Given the description of an element on the screen output the (x, y) to click on. 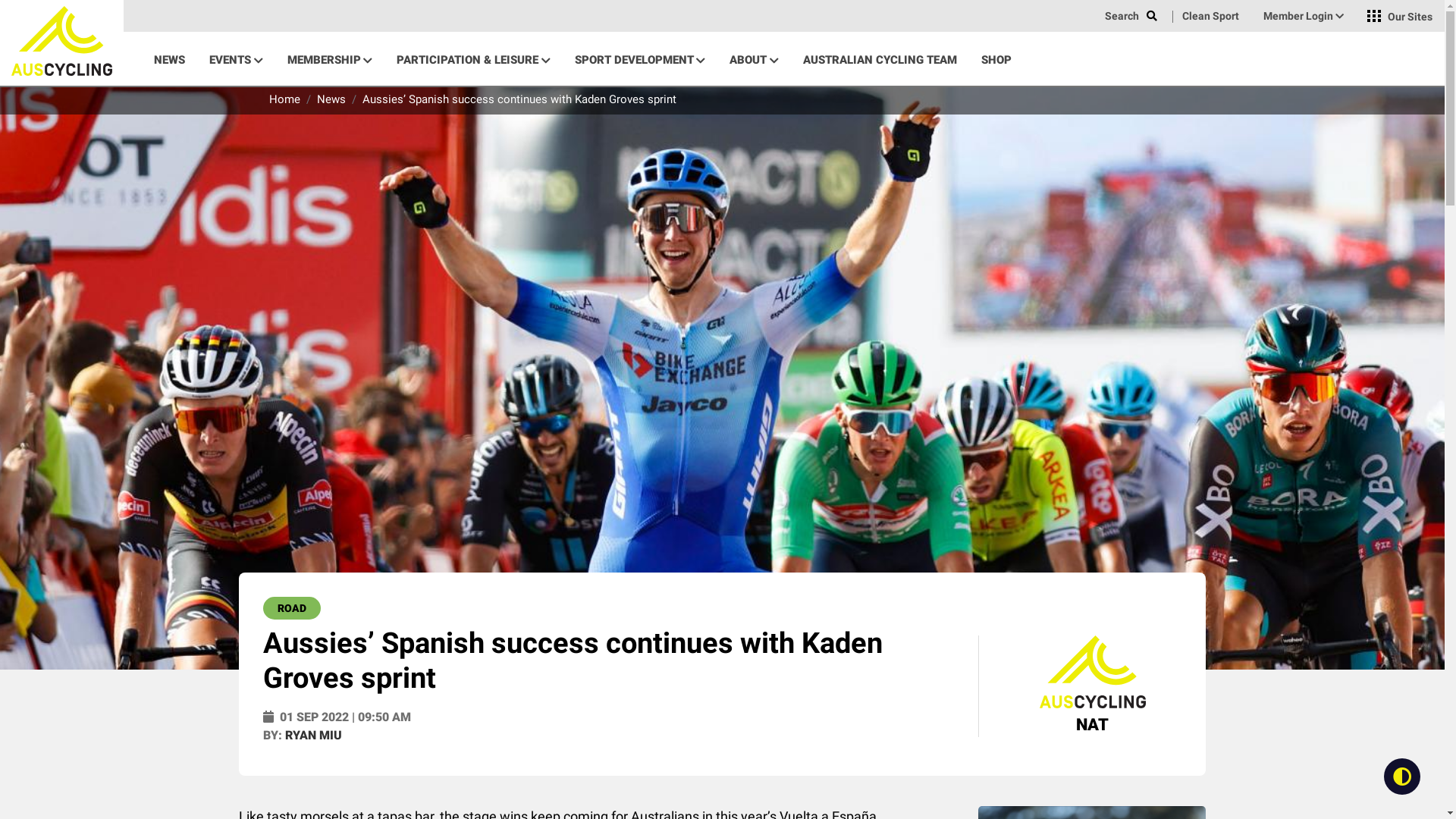
Home Element type: text (284, 99)
SPORT DEVELOPMENT Element type: text (639, 59)
EVENTS Element type: text (235, 59)
SHOP Element type: text (996, 59)
Search Element type: text (1131, 16)
RYAN MIU Element type: text (313, 735)
Member Login Element type: text (1303, 16)
MEMBERSHIP Element type: text (329, 59)
Our Sites Element type: text (1399, 16)
News Element type: text (330, 99)
Clean Sport Element type: text (1210, 16)
AUSTRALIAN CYCLING TEAM Element type: text (879, 59)
NEWS Element type: text (169, 59)
ABOUT Element type: text (753, 59)
PARTICIPATION & LEISURE Element type: text (472, 59)
